Given the description of an element on the screen output the (x, y) to click on. 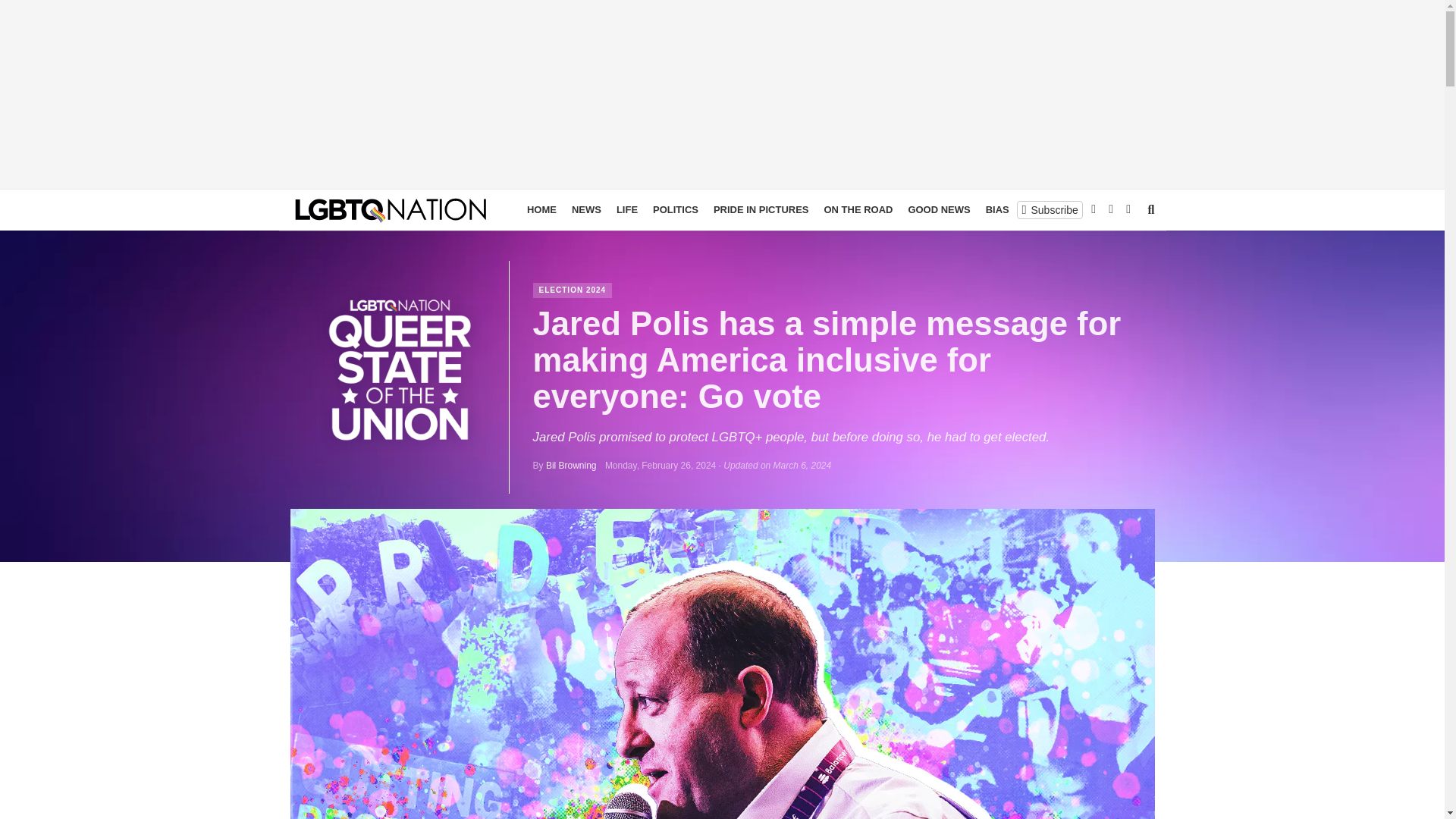
Subscribe (1049, 209)
Bil Browning (571, 465)
POLITICS (675, 209)
Monday, February 26, 2024 am29 09:00:00 (660, 465)
GOOD NEWS (937, 209)
PRIDE IN PICTURES (761, 209)
HOME (541, 209)
ELECTION 2024 (572, 290)
LIFE (626, 209)
